Given the description of an element on the screen output the (x, y) to click on. 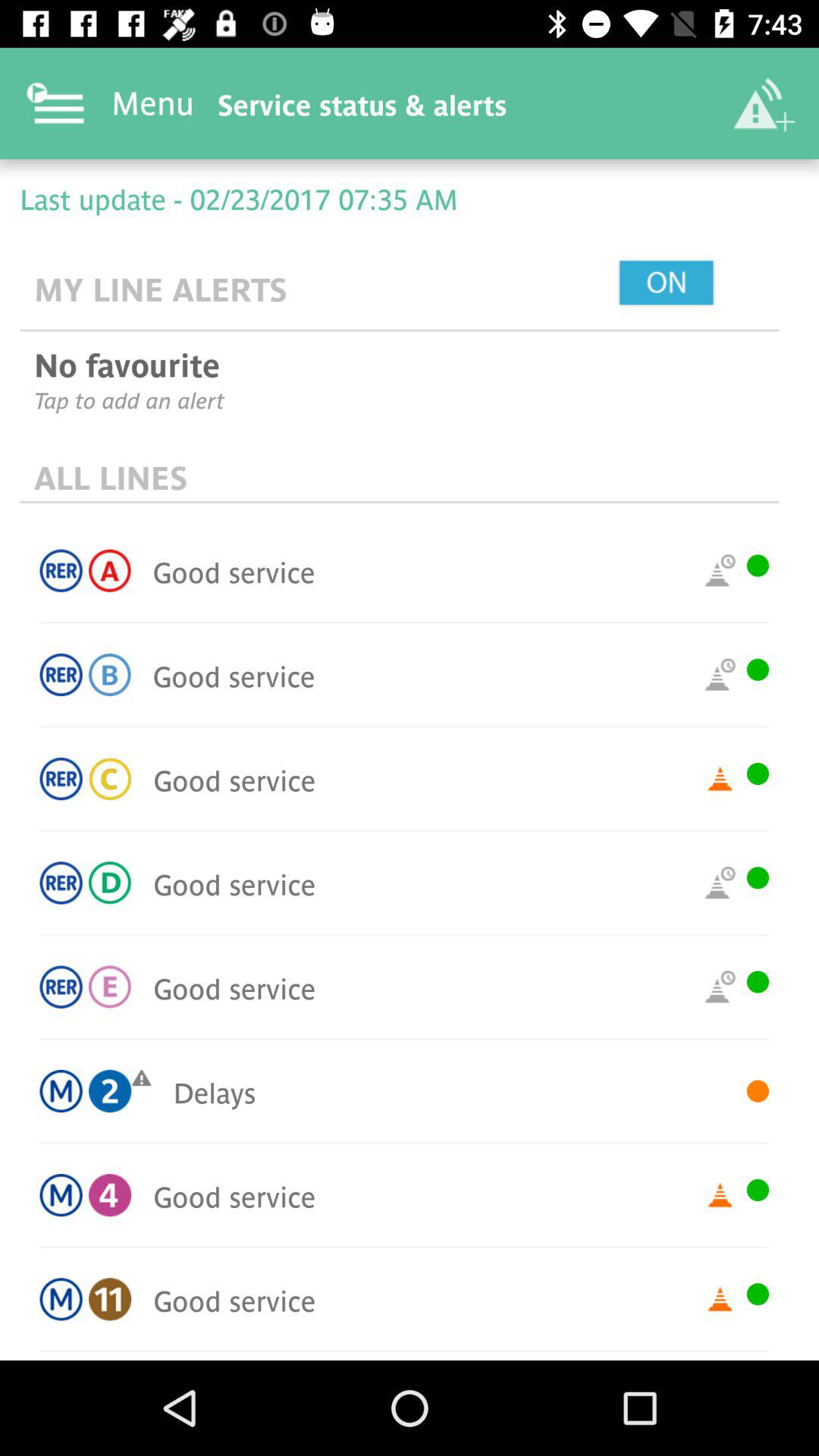
turn off icon to the right of my line alerts icon (700, 283)
